Given the description of an element on the screen output the (x, y) to click on. 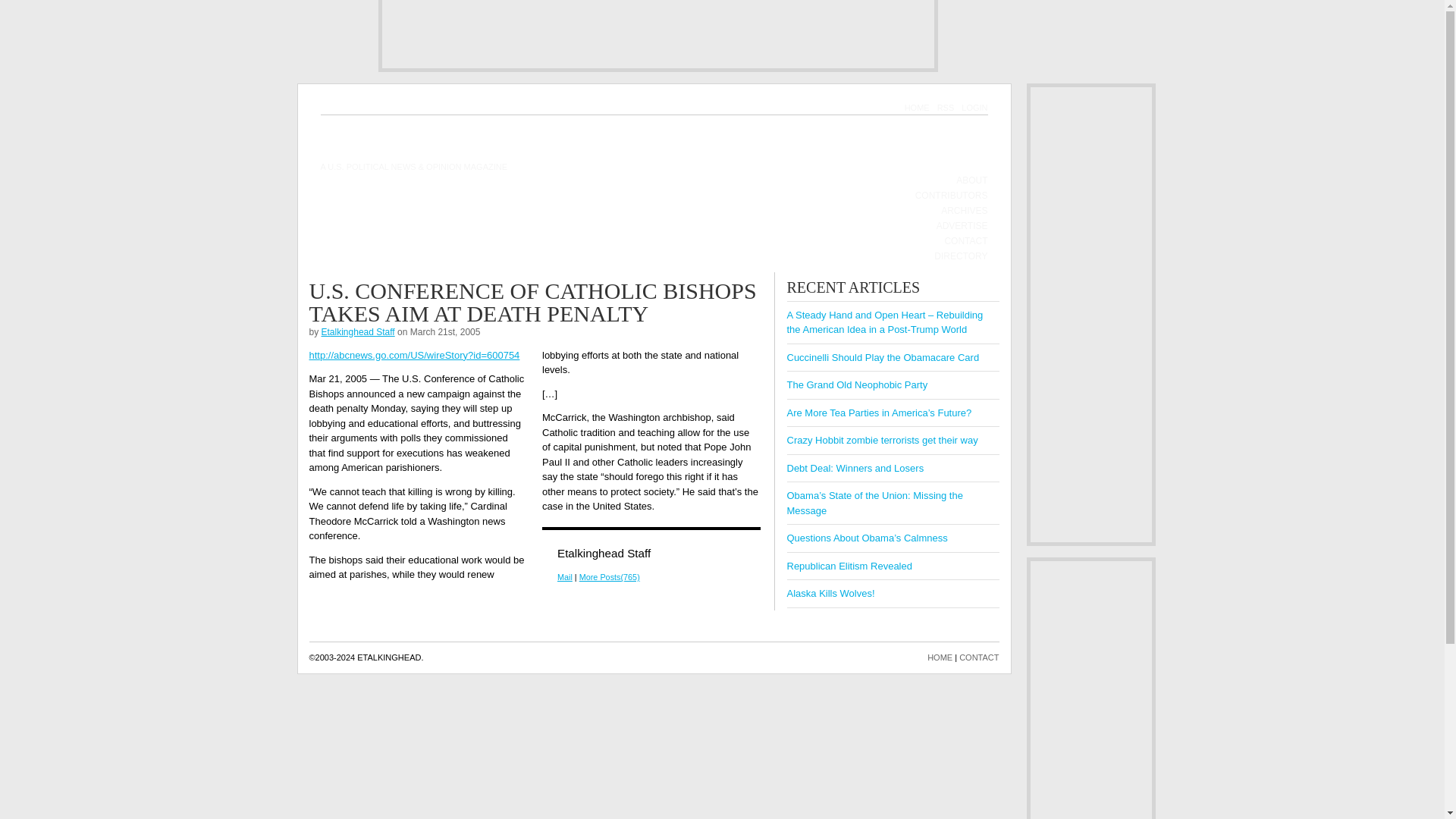
Republican Elitism Revealed (849, 564)
ABOUT (971, 180)
Debt Deal: Winners and Losers (855, 468)
CONTRIBUTORS (951, 195)
CONTACT (978, 656)
RSS (946, 107)
Crazy Hobbit zombie terrorists get their way (882, 439)
The Grand Old Neophobic Party (857, 384)
Cuccinelli Should Play the Obamacare Card (883, 357)
Posts by Etalkinghead Staff (357, 330)
LOGIN (973, 107)
ADVERTISE (962, 225)
HOME (917, 107)
Mail (564, 576)
ARCHIVES (963, 210)
